Given the description of an element on the screen output the (x, y) to click on. 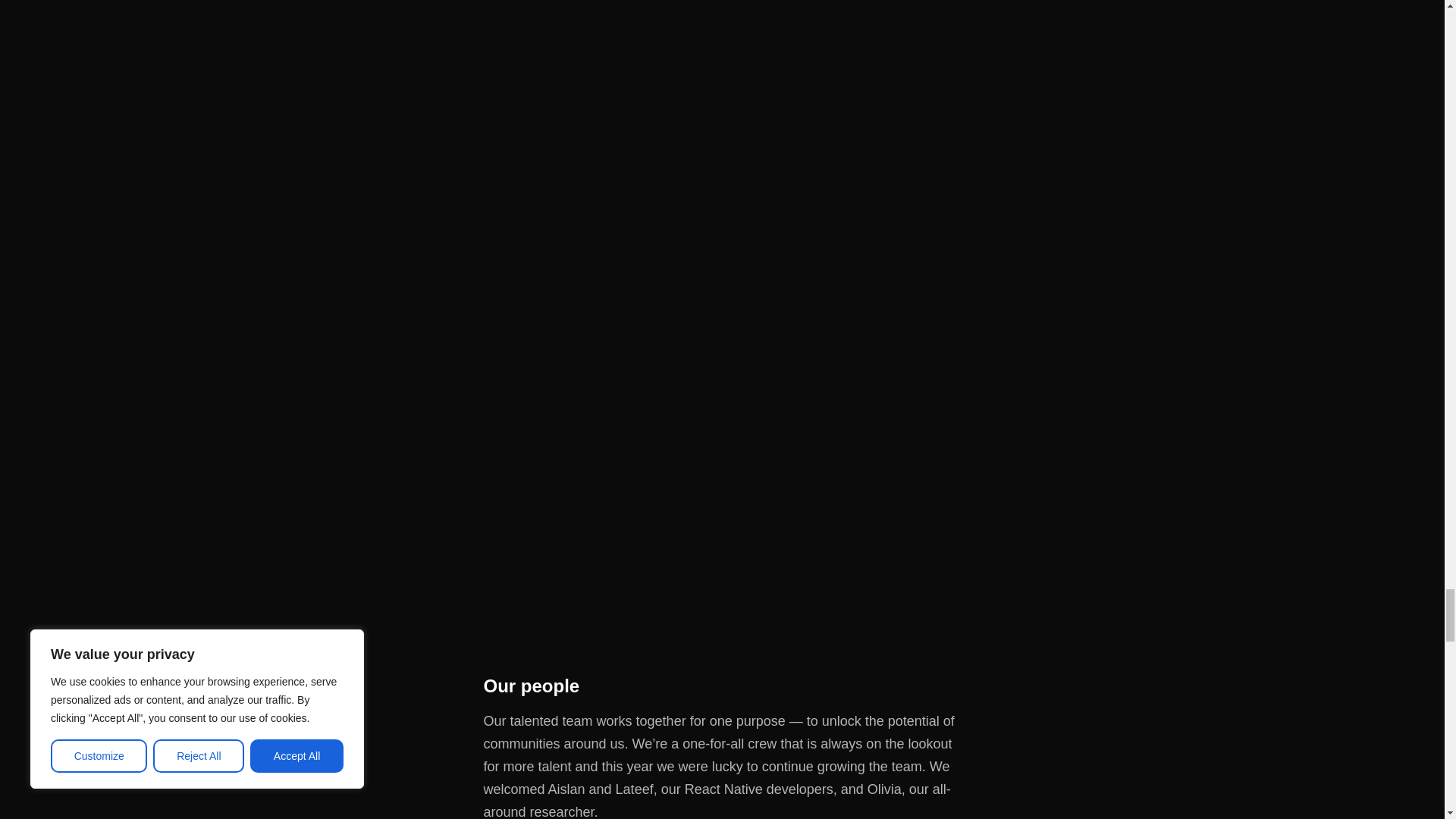
community as you always dreamed (721, 514)
